Given the description of an element on the screen output the (x, y) to click on. 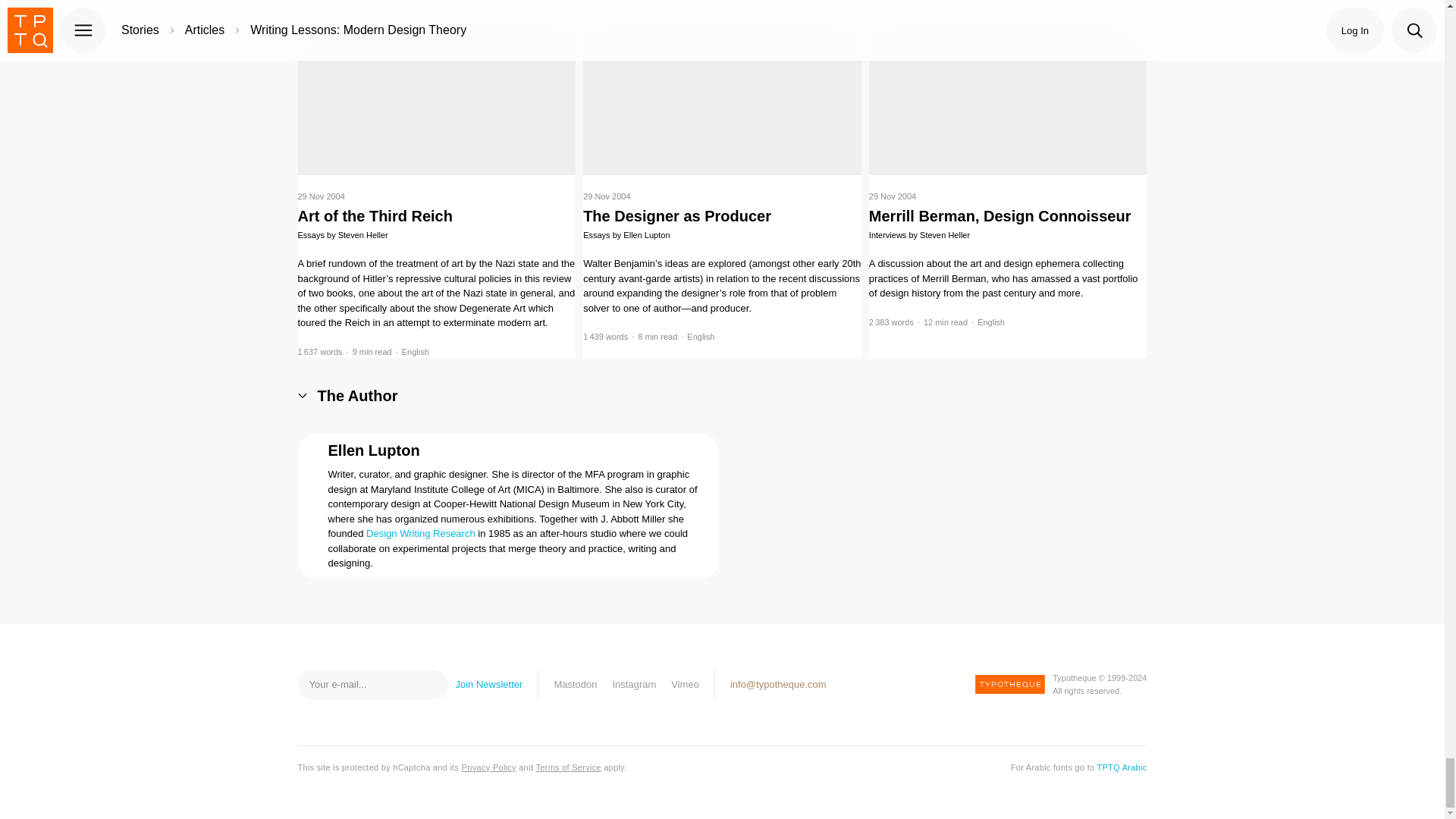
Design Writing Research (421, 532)
Vimeo (684, 684)
The Author (347, 395)
TPTQ Arabic (1121, 767)
Terms of Service (568, 767)
Join Newsletter (488, 684)
Mastodon (574, 684)
Privacy Policy (488, 767)
Ellen Lupton (373, 450)
Instagram (633, 684)
